Given the description of an element on the screen output the (x, y) to click on. 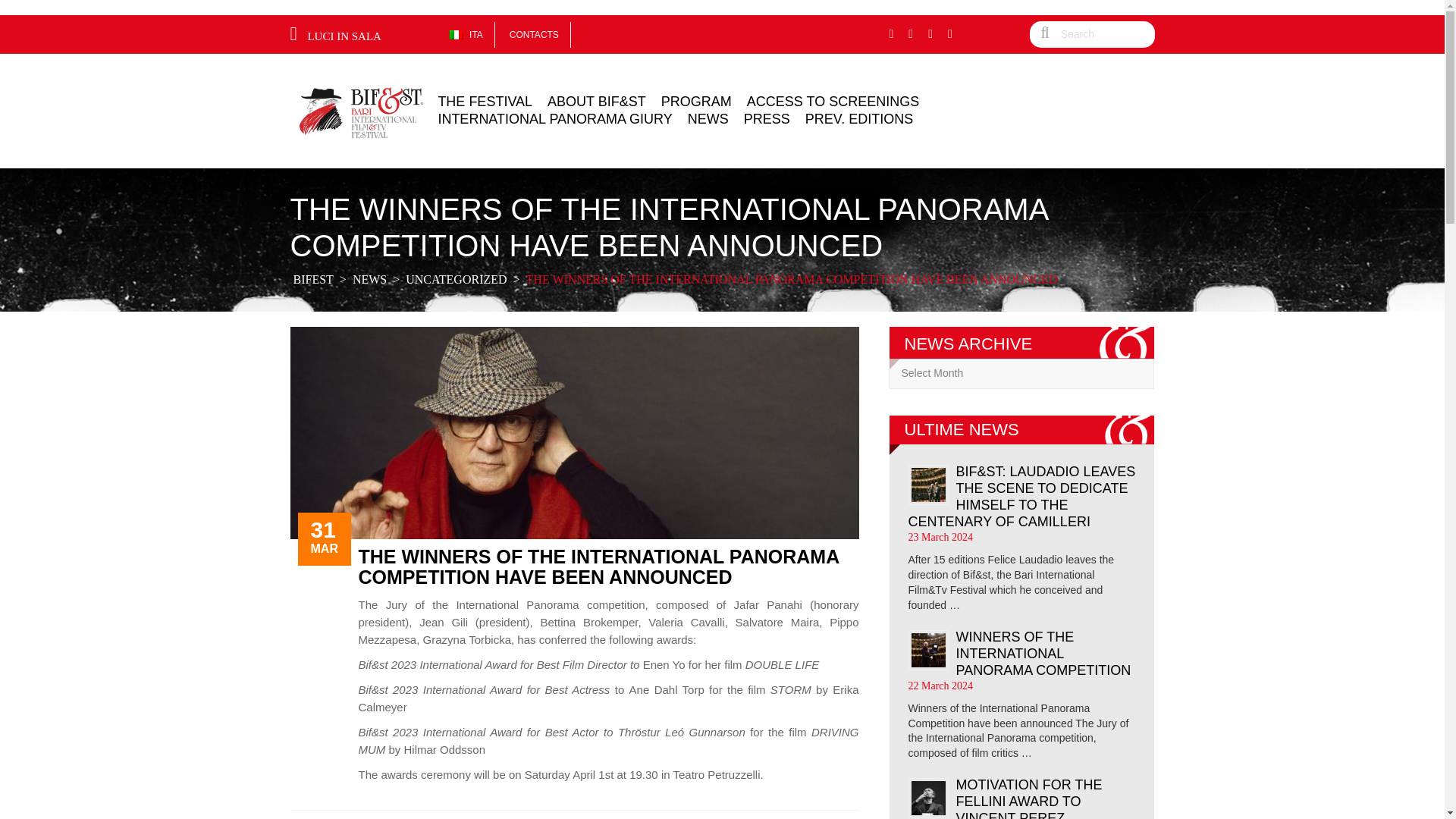
CONTACTS (533, 33)
Go to Bifest. (312, 278)
THE FESTIVAL (484, 101)
INTERNATIONAL PANORAMA GIURY (554, 118)
PROGRAM (696, 101)
ITA (466, 33)
NEWS (707, 118)
ACCESS TO SCREENINGS (832, 101)
Ita (455, 34)
PRESS (766, 118)
PREV. EDITIONS (854, 118)
Ita (466, 33)
Go to the Uncategorized category archives. (456, 278)
